Given the description of an element on the screen output the (x, y) to click on. 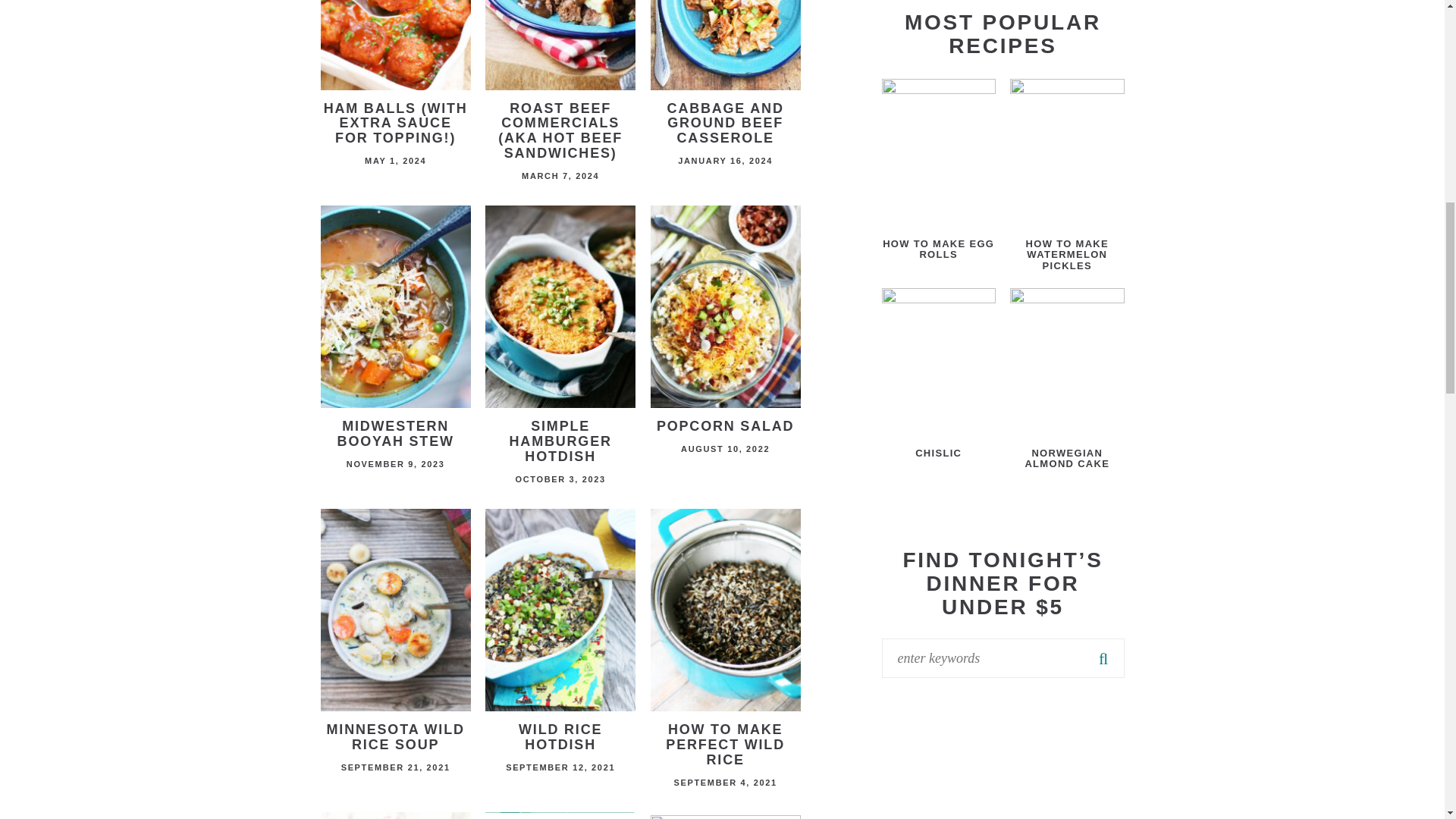
Deep-Fried Cheese Curds (395, 815)
Tater Tot Hotdish (725, 815)
50 Iconic Recipes From Each Of The 50 States (559, 815)
Cabbage And Ground Beef Casserole (725, 73)
